Given the description of an element on the screen output the (x, y) to click on. 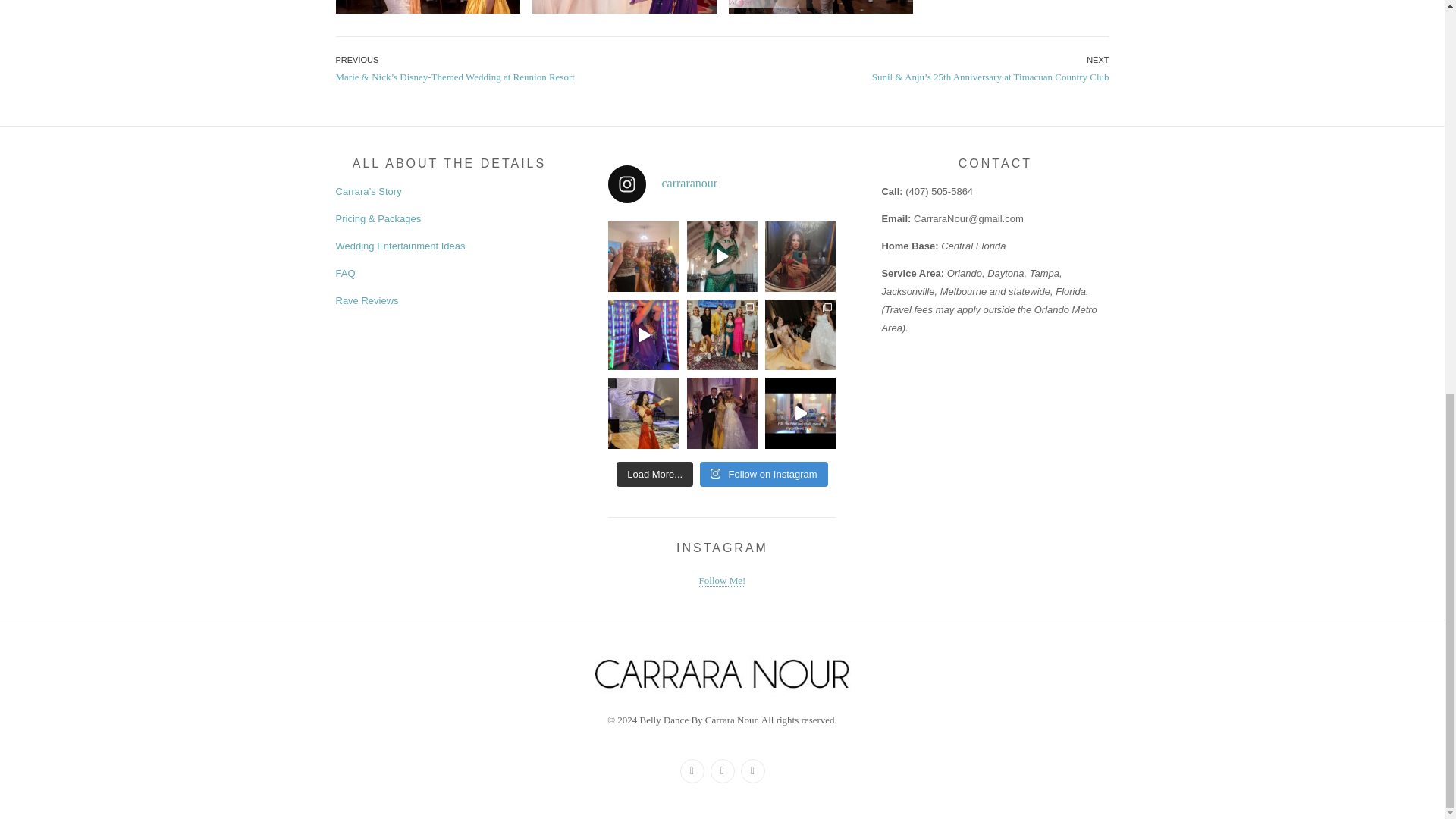
YouTube (751, 770)
Rave Reviews (365, 300)
Instagram (721, 770)
Facebook (691, 770)
FAQ (344, 273)
carraranour (721, 184)
Wedding Entertainment Ideas (399, 245)
